Given the description of an element on the screen output the (x, y) to click on. 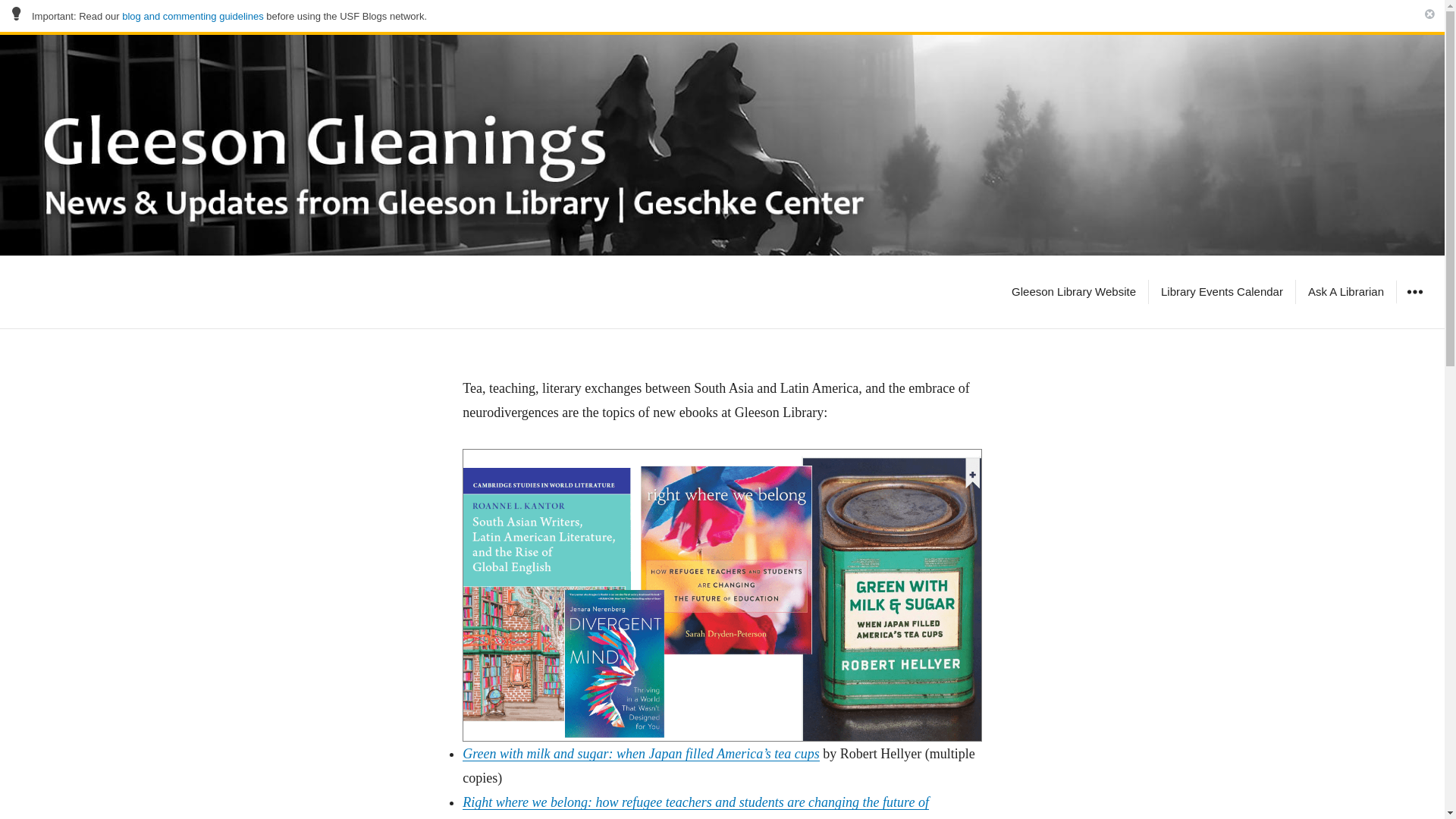
Ask A Librarian (1345, 291)
Gleeson Gleanings (116, 291)
Gleeson Library Website (1073, 291)
WIDGETS (1414, 291)
Library Events Calendar (1221, 291)
